Given the description of an element on the screen output the (x, y) to click on. 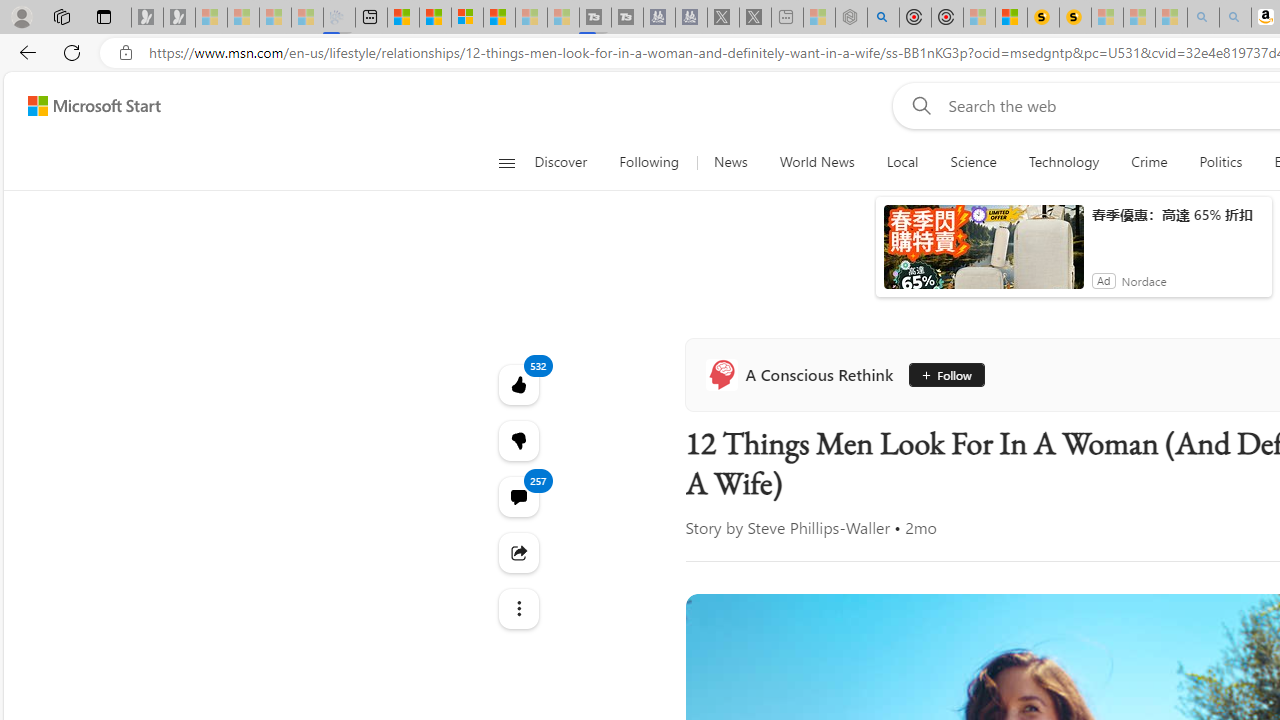
Politics (1220, 162)
poe - Search (882, 17)
Wildlife - MSN - Sleeping (818, 17)
World News (816, 162)
anim-content (983, 255)
Science (973, 162)
